Given the description of an element on the screen output the (x, y) to click on. 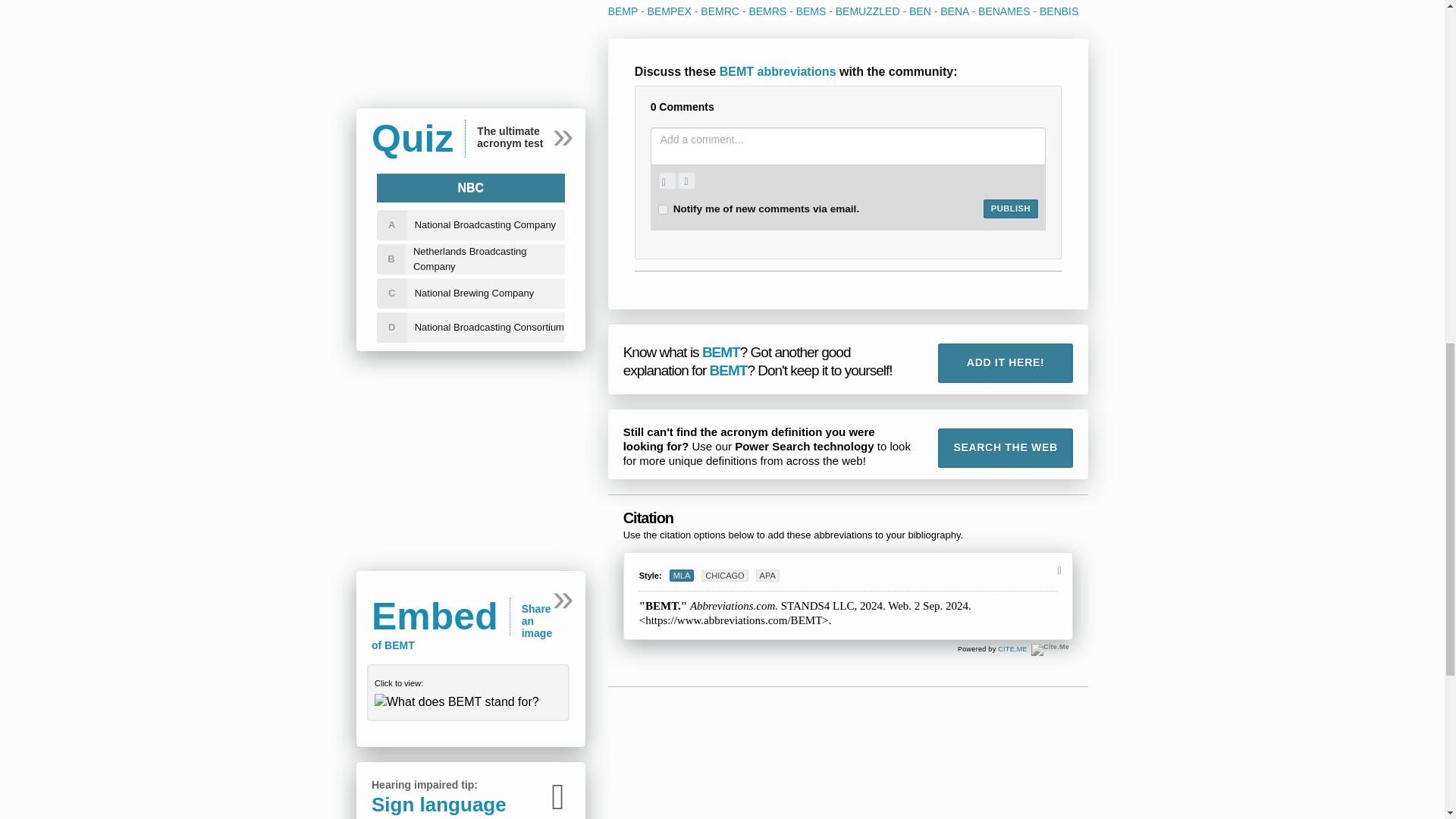
Cite.Me (1049, 649)
Cite.Me (1050, 649)
Cite.Me (1012, 648)
Upload an image (667, 180)
on (663, 209)
Record a sound (686, 180)
